Given the description of an element on the screen output the (x, y) to click on. 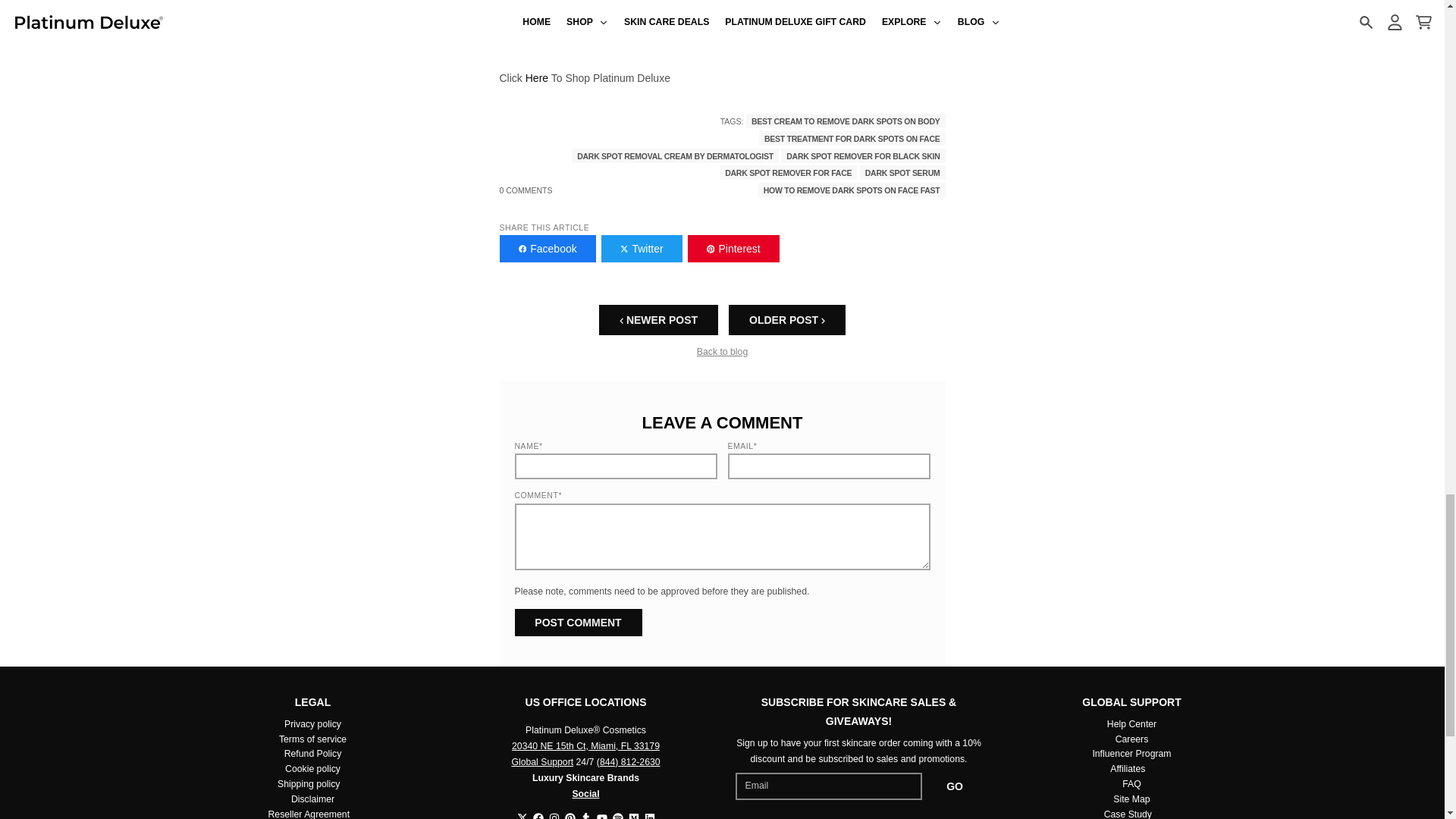
Facebook - Platinum Deluxe Cosmetics (537, 816)
LinkedIn - Platinum Deluxe Cosmetics (650, 816)
Instagram - Platinum Deluxe Cosmetics (553, 816)
Post comment (577, 622)
YouTube - Platinum Deluxe Cosmetics (601, 816)
Tumblr - Platinum Deluxe Cosmetics (585, 816)
Pinterest - Platinum Deluxe Cosmetics (569, 816)
Twitter - Platinum Deluxe Cosmetics (521, 816)
Medium - Platinum Deluxe Cosmetics (633, 816)
